Given the description of an element on the screen output the (x, y) to click on. 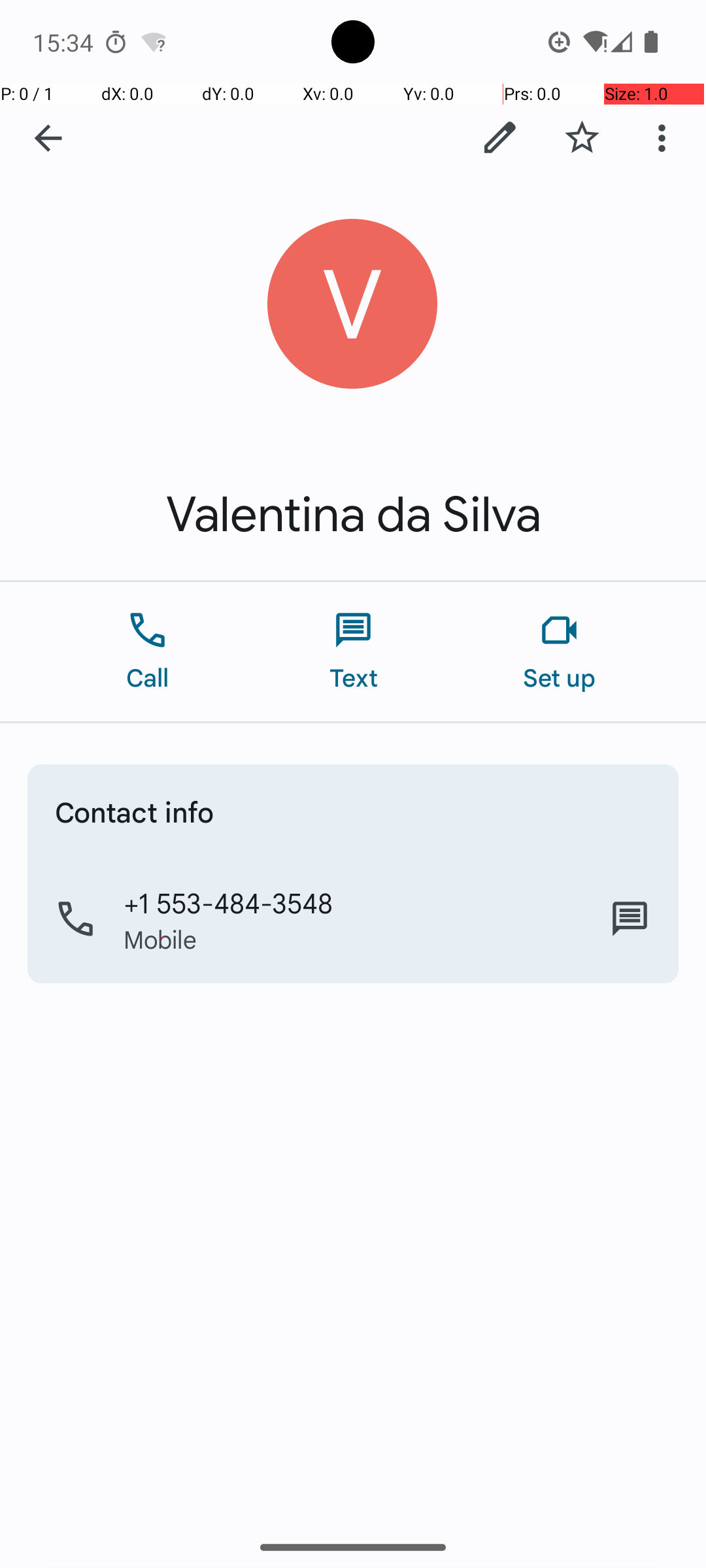
Valentina da Silva Element type: android.widget.TextView (352, 514)
Call Mobile +1 553-484-3548 Element type: android.widget.RelativeLayout (352, 919)
+1 553-484-3548 Element type: android.widget.TextView (228, 901)
Text Mobile +1 553-484-3548 Element type: android.widget.Button (629, 919)
